Given the description of an element on the screen output the (x, y) to click on. 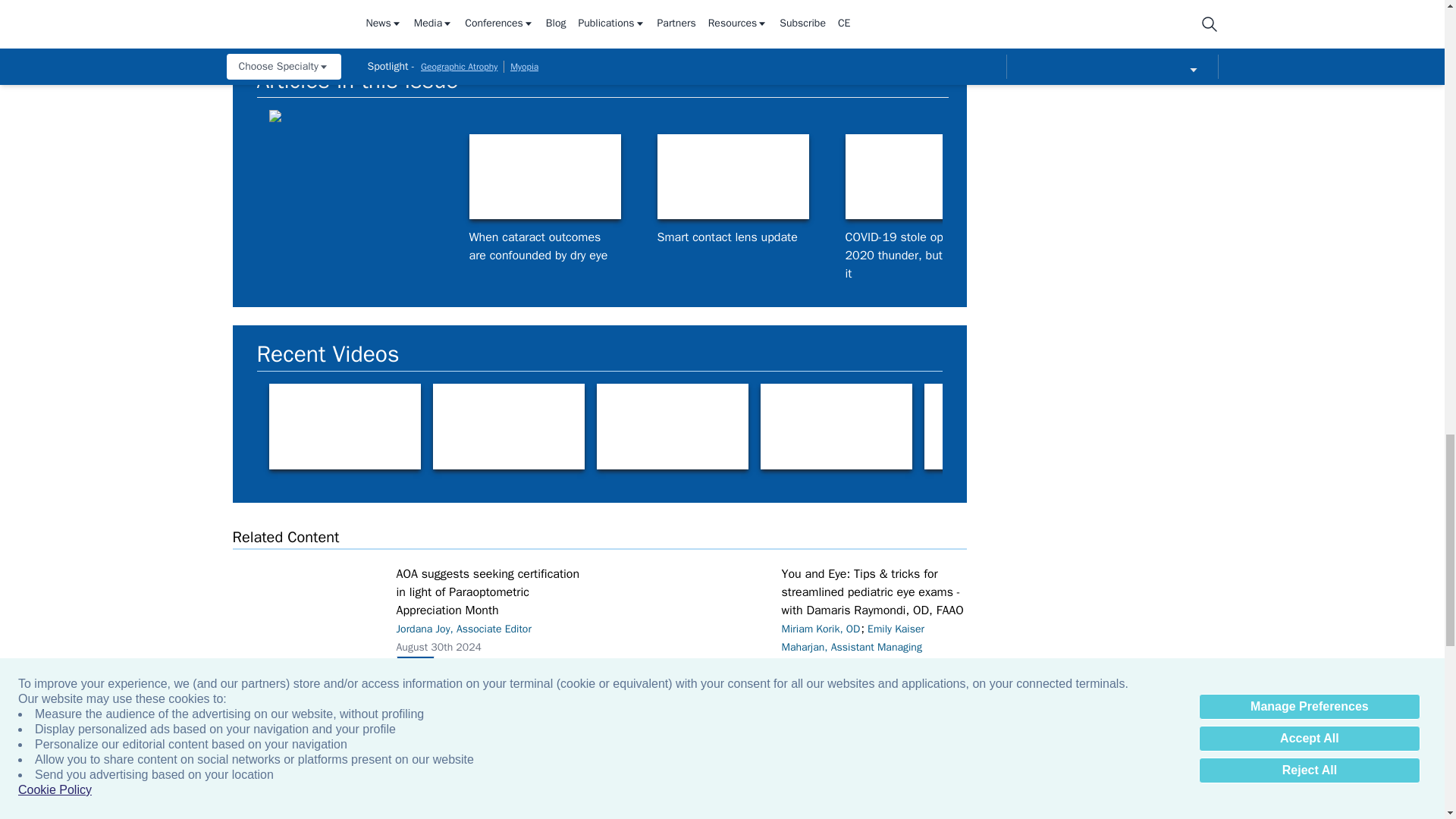
In vivo bulbar conjunctival structures study results in (1297, 177)
Smart contact lens update (732, 177)
When cataract outcomes are confounded by dry eye (544, 177)
